Given the description of an element on the screen output the (x, y) to click on. 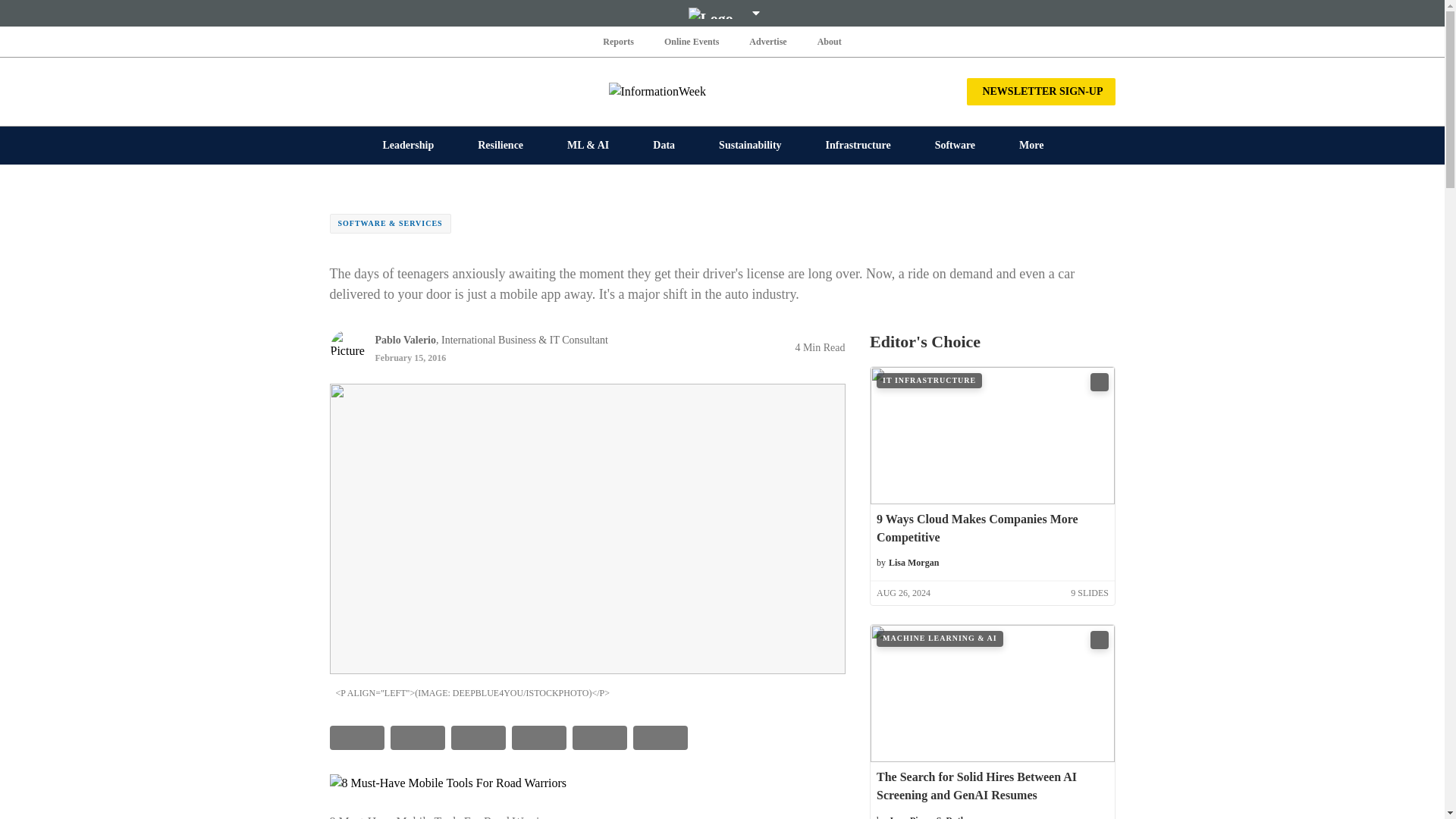
About (828, 41)
Reports (618, 41)
Online Events (691, 41)
InformationWeek (721, 91)
Advertise (767, 41)
NEWSLETTER SIGN-UP (1040, 90)
